Given the description of an element on the screen output the (x, y) to click on. 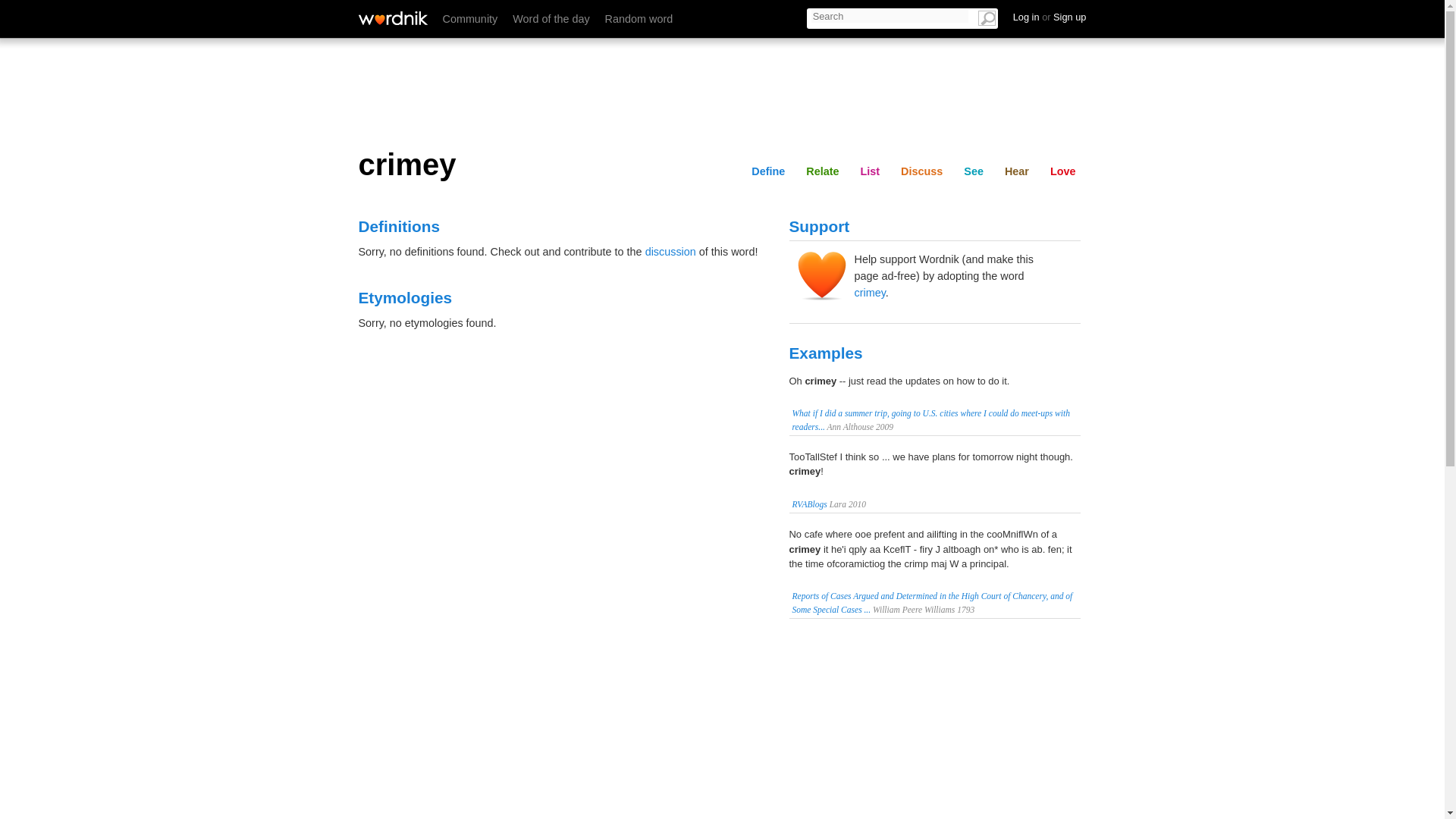
See (974, 171)
Community (469, 19)
Relate (821, 171)
Hear (1063, 16)
crimey (869, 292)
Define (767, 171)
Word of the day (550, 19)
Relate (854, 16)
List (869, 171)
Log in or Sign up (1049, 16)
Community (469, 19)
Hear (1016, 171)
Random Word (638, 19)
Discuss (961, 16)
Love (1062, 171)
